Given the description of an element on the screen output the (x, y) to click on. 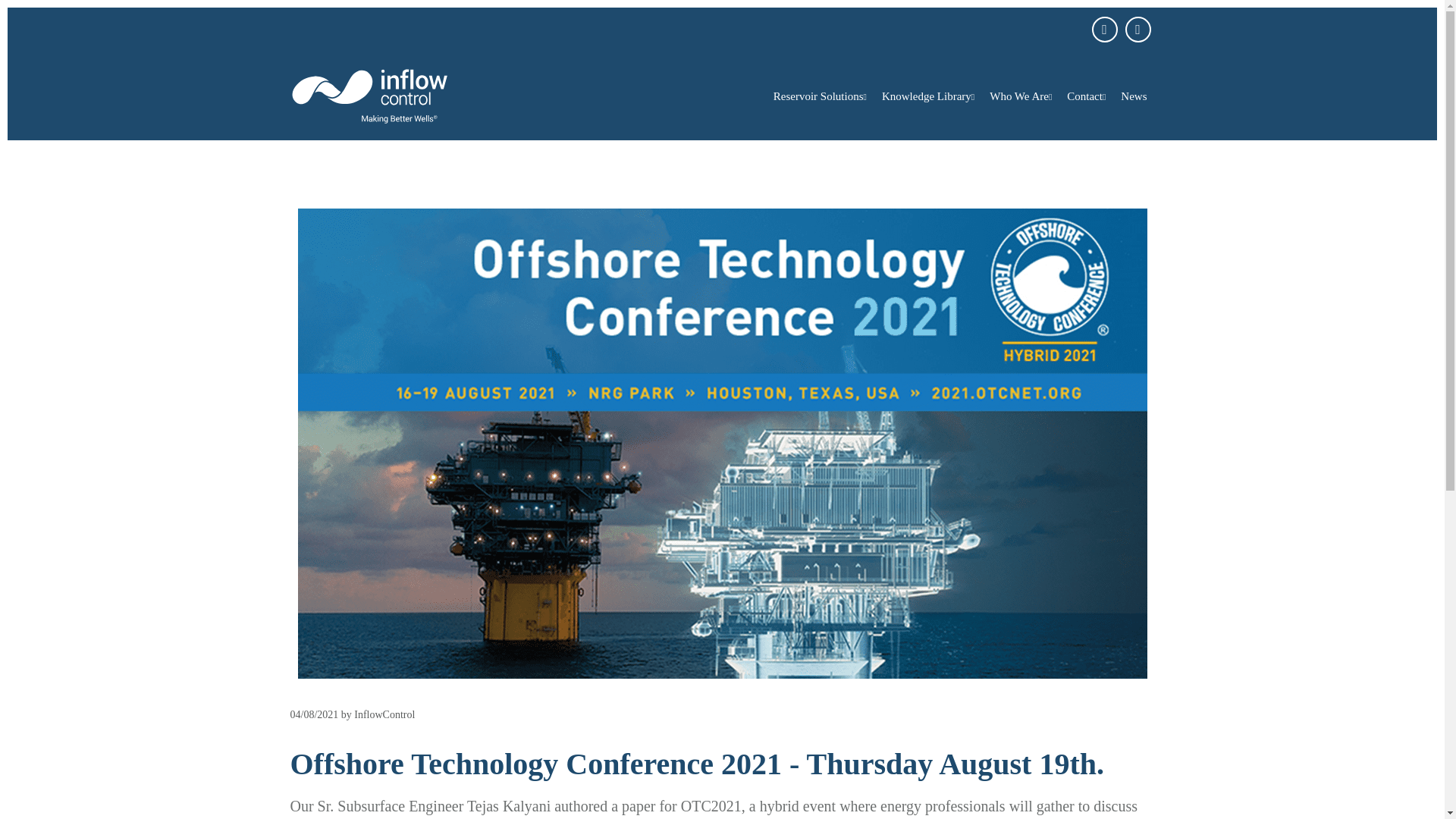
Contact (1086, 96)
News (1134, 96)
Go to main page (389, 95)
Who We Are (1020, 96)
Knowledge Library (928, 96)
Reservoir Solutions (819, 96)
LinkedIn - InflowControl (1138, 29)
YouTube - InflowControl (1104, 29)
